Given the description of an element on the screen output the (x, y) to click on. 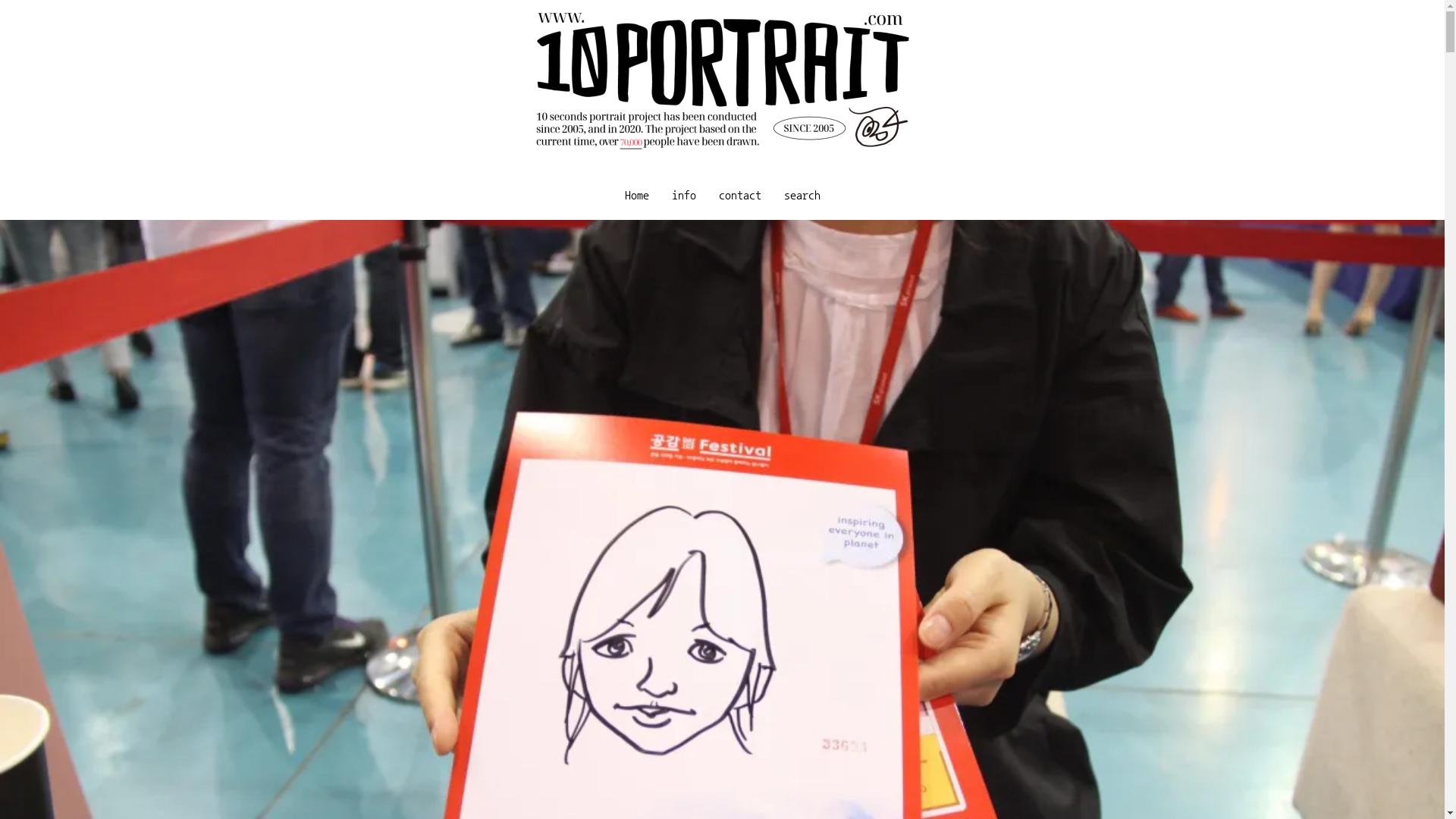
info Element type: text (682, 194)
Home Element type: text (635, 194)
search Element type: text (801, 194)
contact Element type: text (738, 194)
